Given the description of an element on the screen output the (x, y) to click on. 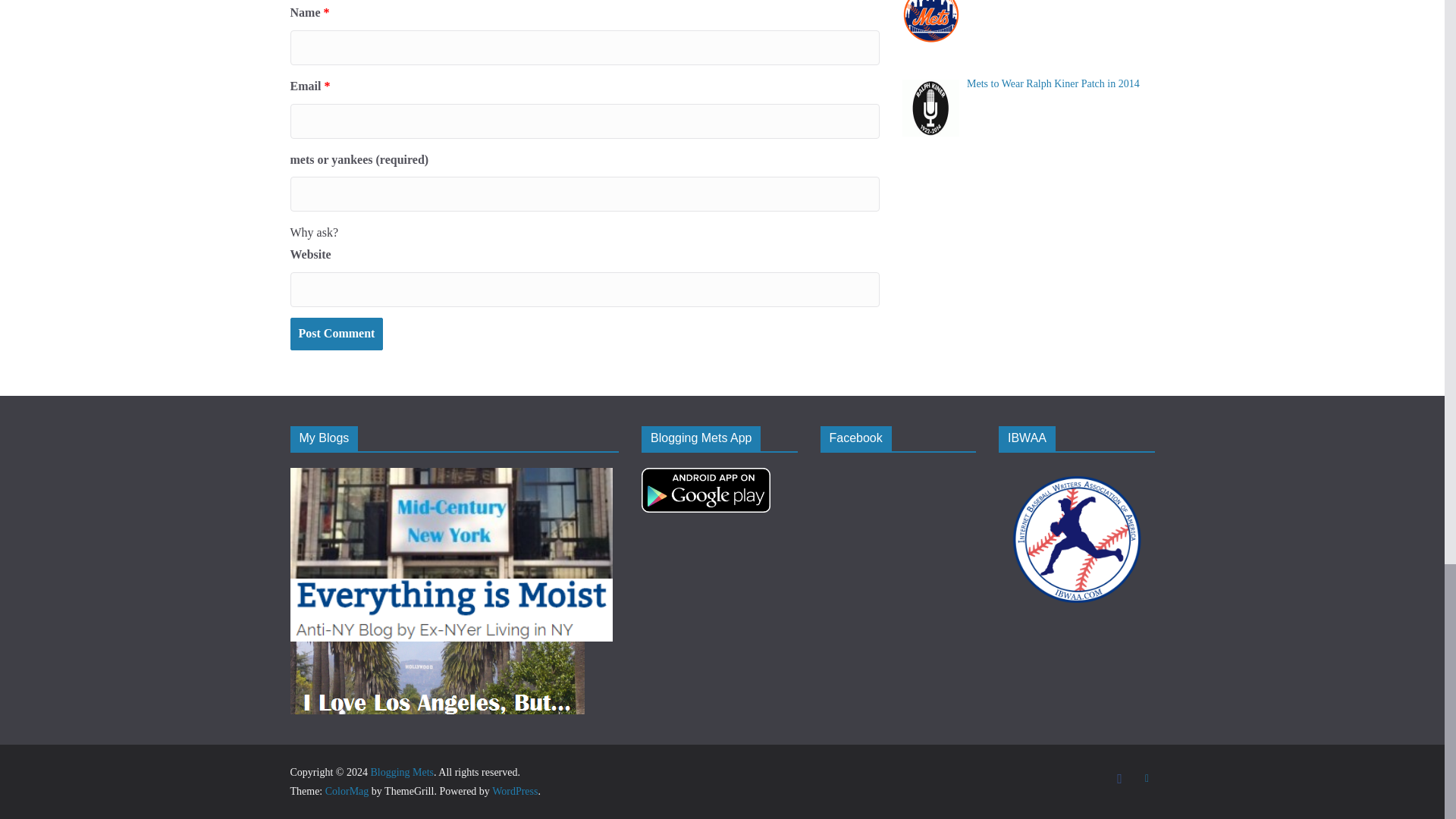
Post Comment (335, 333)
This confirms you are a human user! (313, 232)
